Given the description of an element on the screen output the (x, y) to click on. 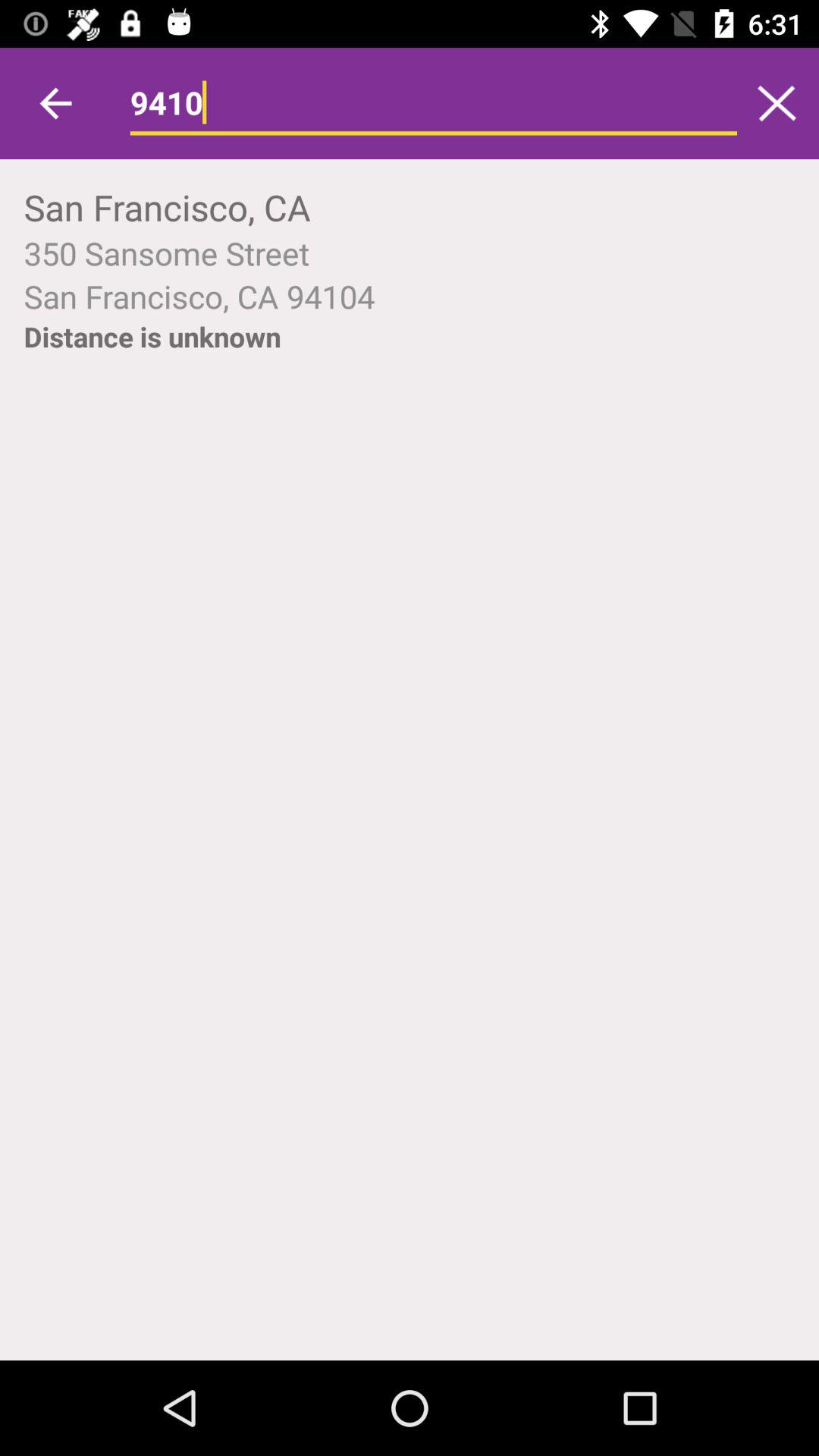
select icon to the right of 9410 (776, 103)
